Given the description of an element on the screen output the (x, y) to click on. 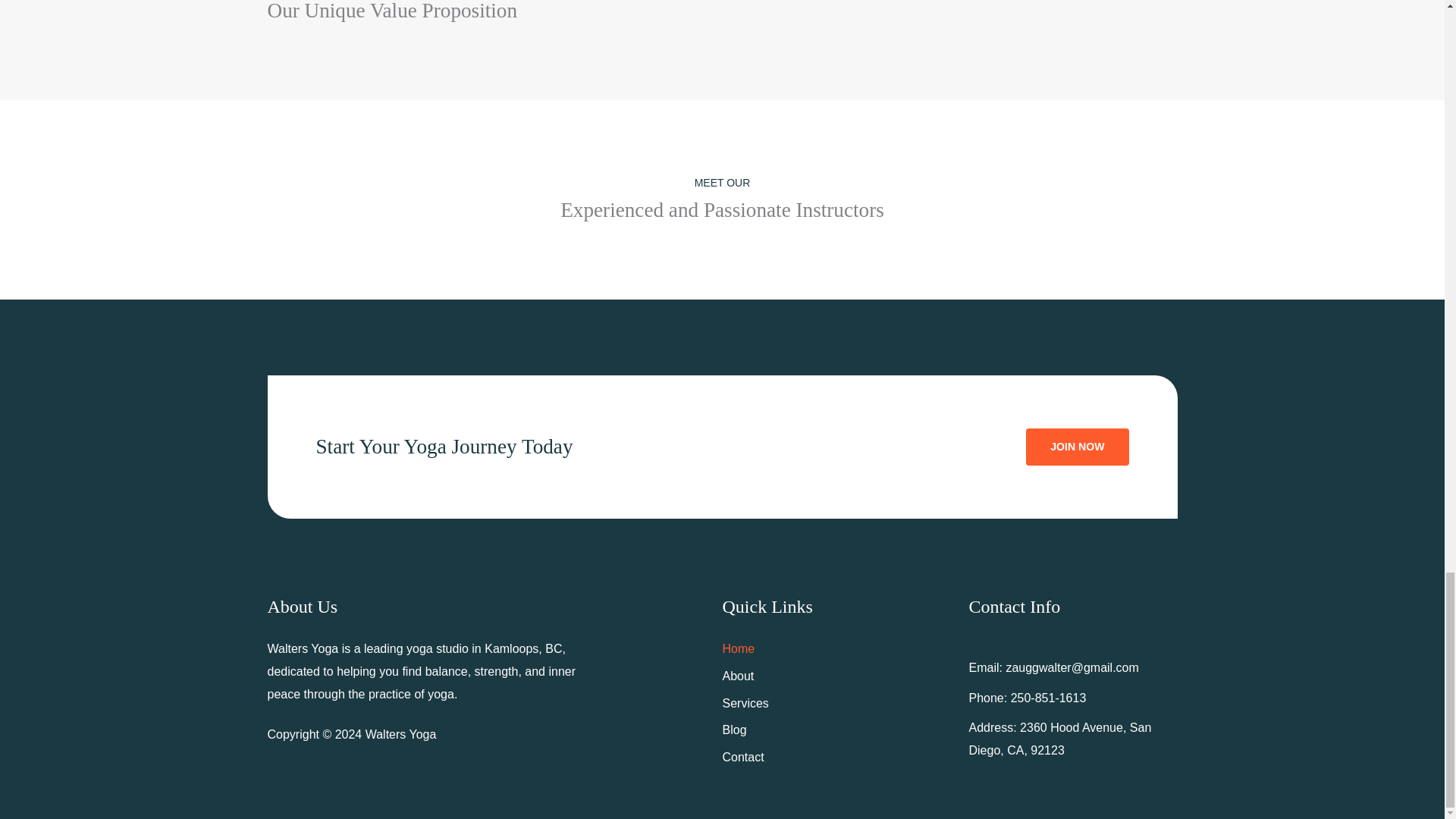
Home (738, 651)
Services (745, 705)
JOIN NOW (1077, 446)
About (738, 678)
Contact (742, 759)
Blog (733, 732)
